Given the description of an element on the screen output the (x, y) to click on. 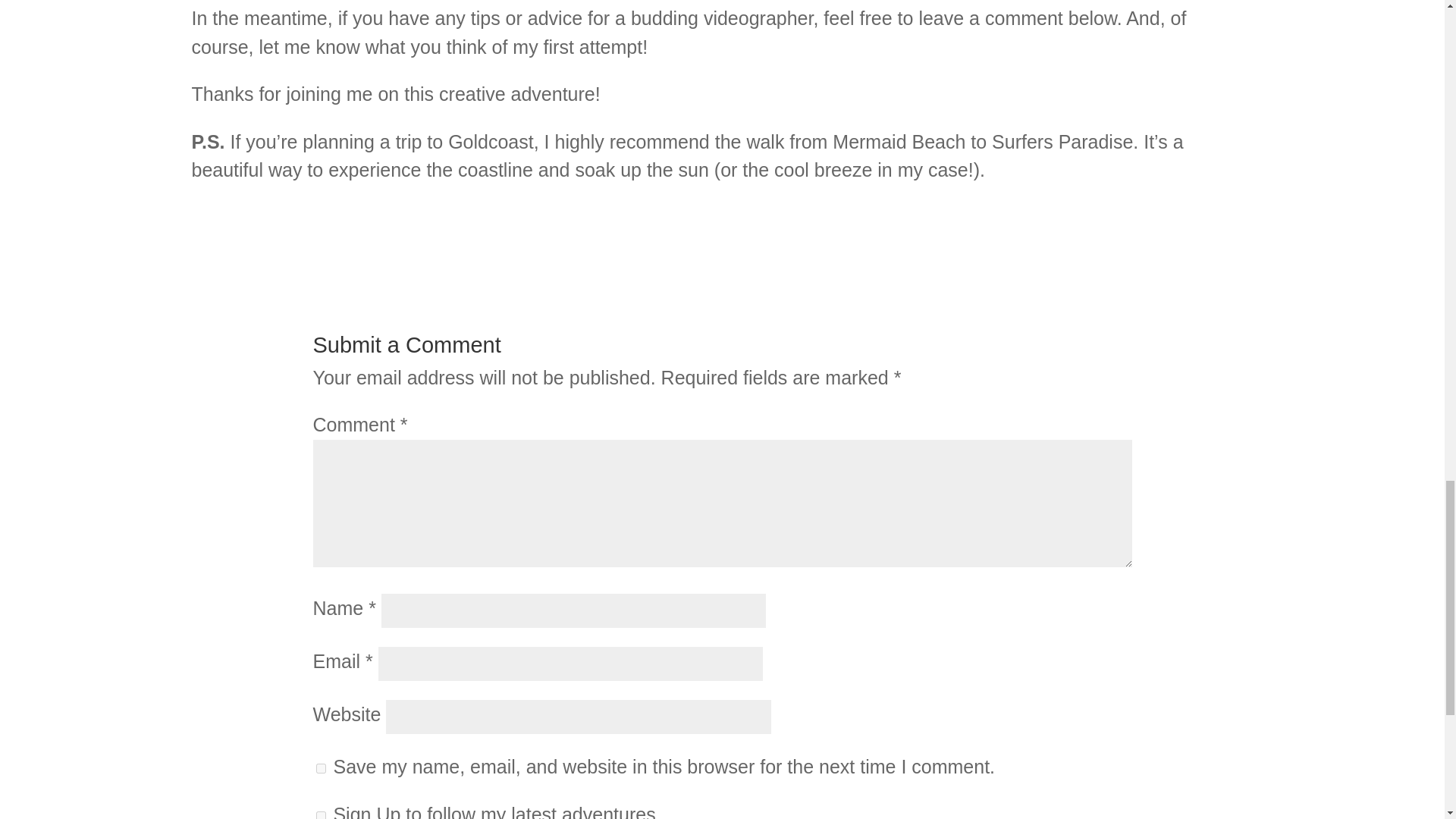
yes (319, 768)
1 (319, 815)
